Given the description of an element on the screen output the (x, y) to click on. 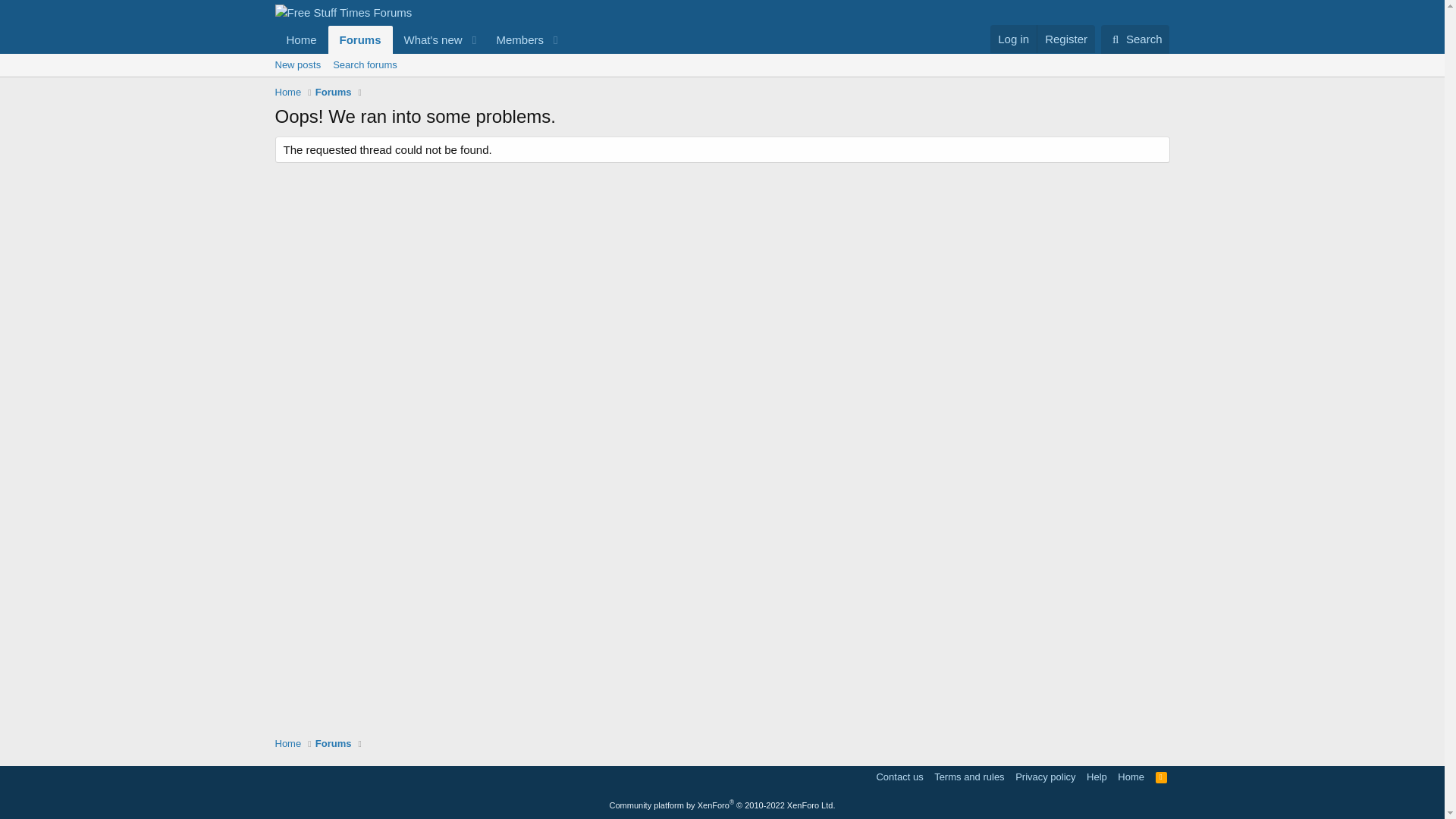
Home (288, 743)
Home (288, 92)
Search (1135, 39)
Search (1135, 39)
New posts (296, 65)
Home (301, 39)
RSS (1161, 776)
Terms and rules (969, 776)
Help (1096, 776)
Contact us (899, 776)
Home (1131, 776)
Register (1065, 39)
Forums (419, 39)
